Given the description of an element on the screen output the (x, y) to click on. 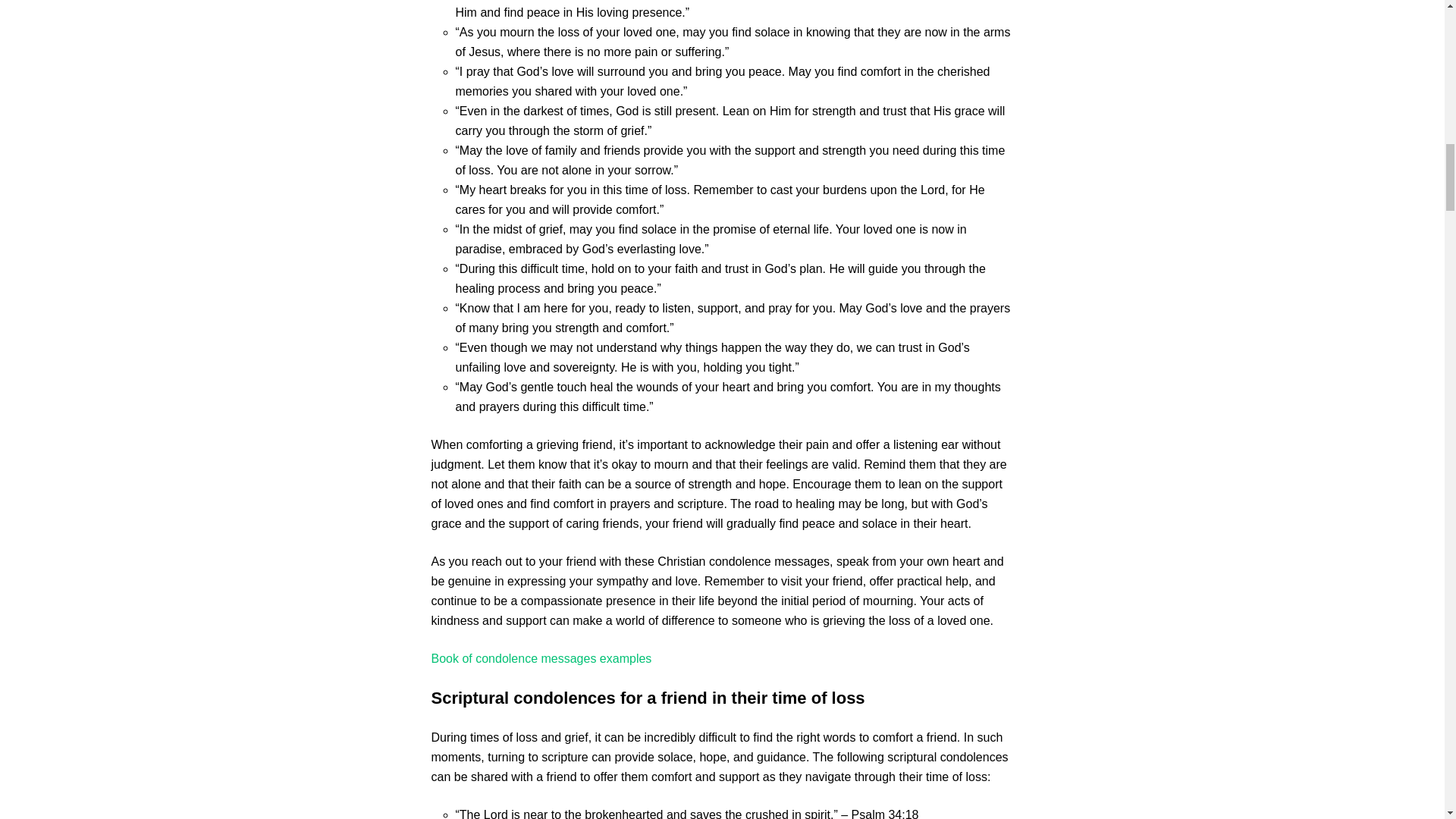
Book of condolence messages examples (540, 658)
